Given the description of an element on the screen output the (x, y) to click on. 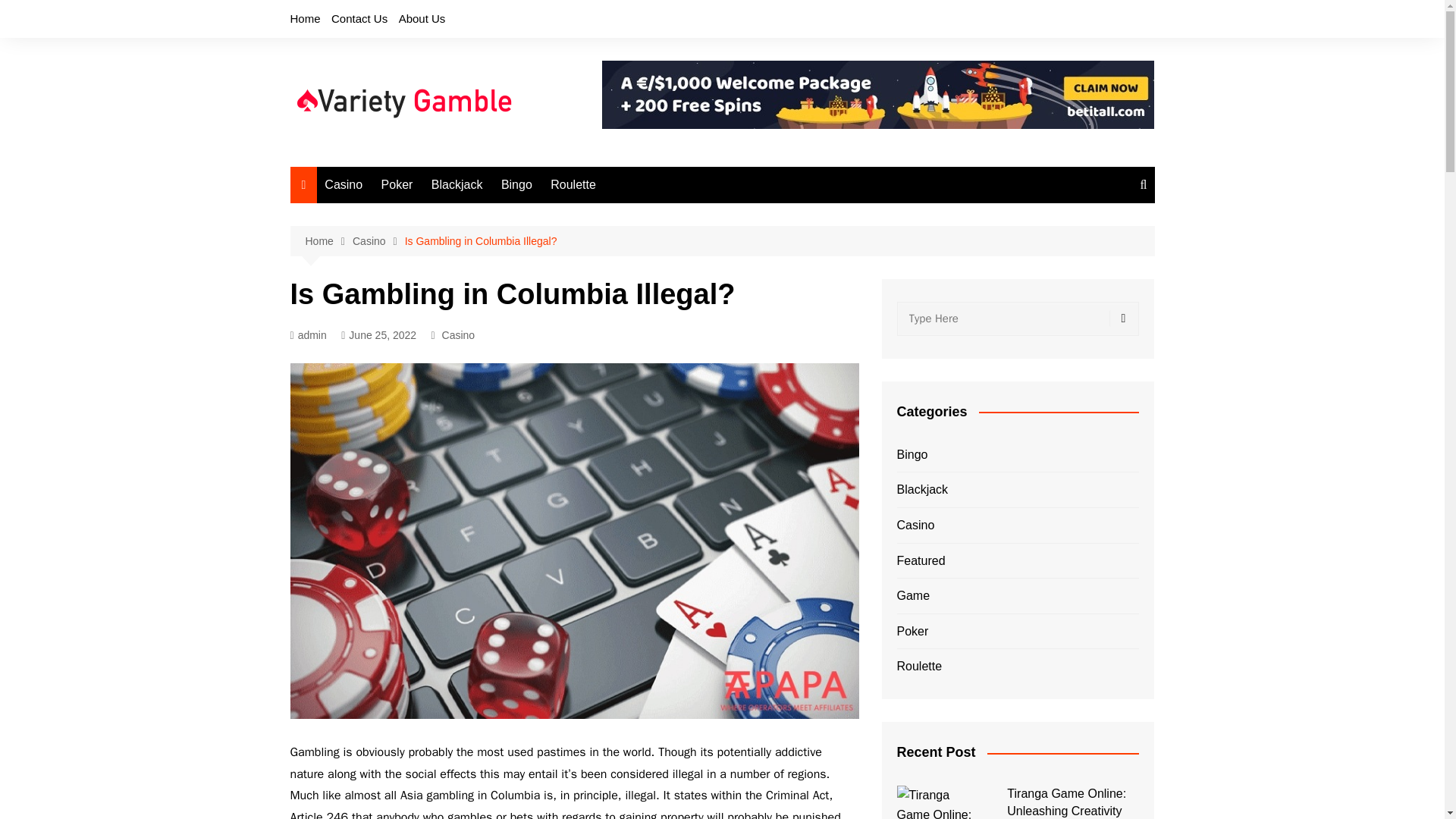
admin (307, 334)
Home (304, 18)
Contact Us (359, 18)
Bingo (516, 185)
Is Gambling in Columbia Illegal? (480, 240)
June 25, 2022 (378, 334)
About Us (421, 18)
Casino (459, 334)
Casino (378, 241)
Poker (397, 185)
Casino (343, 185)
Blackjack (456, 185)
Home (328, 241)
Roulette (573, 185)
